Given the description of an element on the screen output the (x, y) to click on. 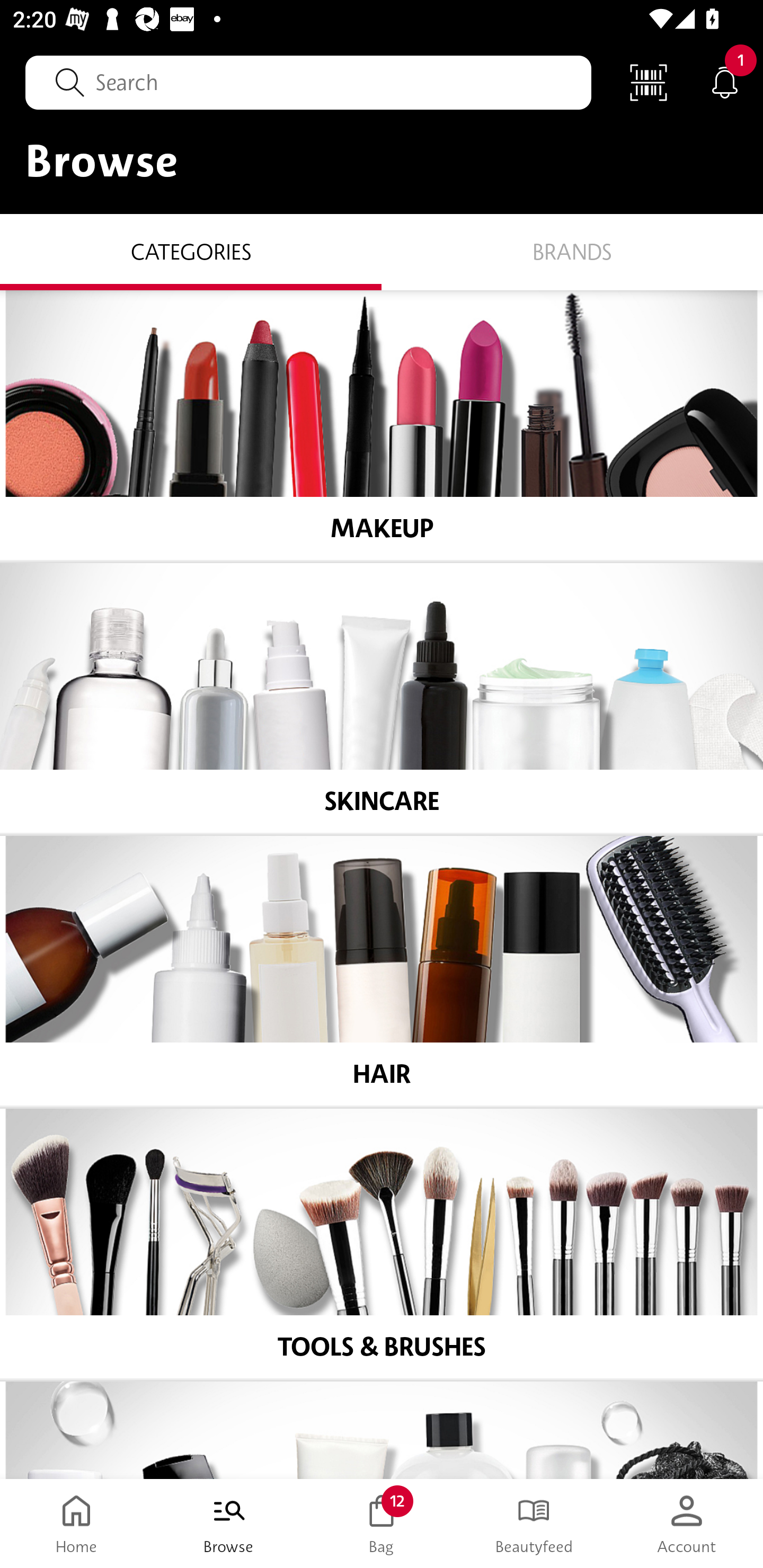
Scan Code (648, 81)
Notifications (724, 81)
Search (308, 81)
Brands BRANDS (572, 251)
MAKEUP (381, 425)
SKINCARE (381, 698)
HAIR (381, 971)
TOOLS & BRUSHES (381, 1243)
Home (76, 1523)
Bag 12 Bag (381, 1523)
Beautyfeed (533, 1523)
Account (686, 1523)
